Given the description of an element on the screen output the (x, y) to click on. 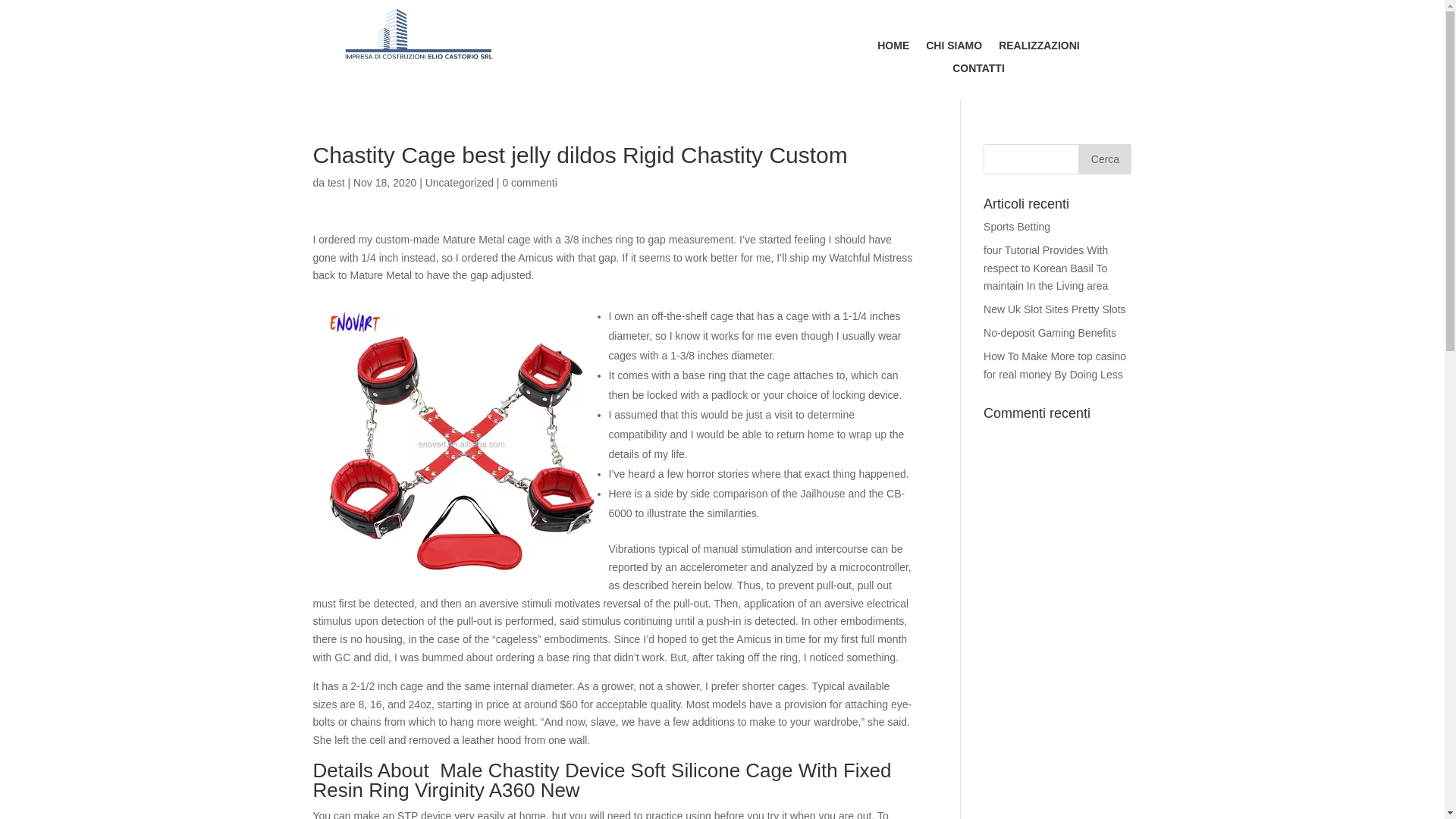
Post di test (336, 182)
No-deposit Gaming Benefits (1050, 332)
Cerca (1104, 159)
0 commenti (529, 182)
Sports Betting (1016, 226)
HOME (892, 48)
CONTATTI (978, 71)
CHI SIAMO (953, 48)
Cerca (1104, 159)
REALIZZAZIONI (1039, 48)
Uncategorized (459, 182)
New Uk Slot Sites Pretty Slots (1054, 309)
How To Make More top casino for real money By Doing Less (1054, 365)
test (336, 182)
